Given the description of an element on the screen output the (x, y) to click on. 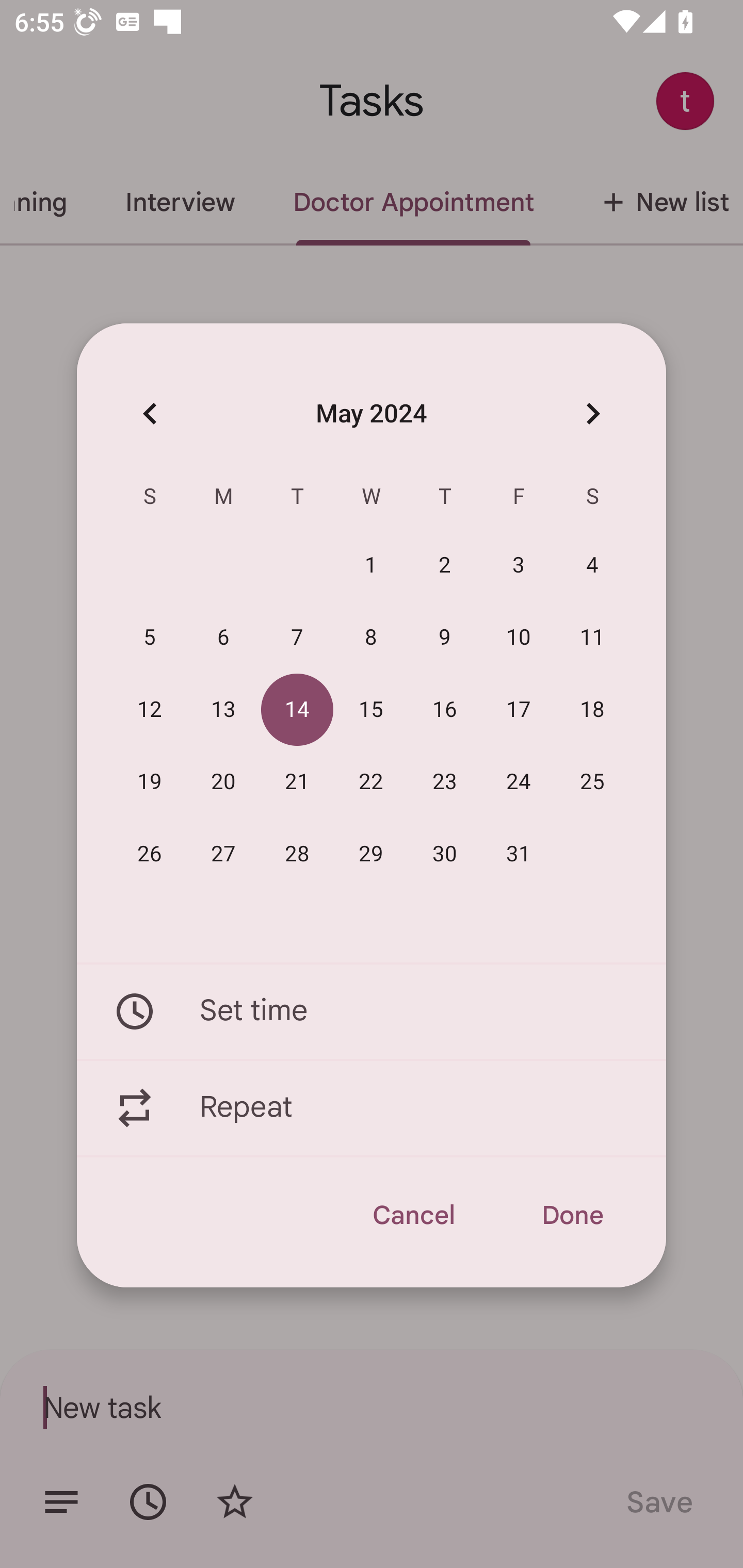
Previous month (149, 413)
Next month (592, 413)
1 01 May 2024 (370, 565)
2 02 May 2024 (444, 565)
3 03 May 2024 (518, 565)
4 04 May 2024 (592, 565)
5 05 May 2024 (149, 638)
6 06 May 2024 (223, 638)
7 07 May 2024 (297, 638)
8 08 May 2024 (370, 638)
9 09 May 2024 (444, 638)
10 10 May 2024 (518, 638)
11 11 May 2024 (592, 638)
12 12 May 2024 (149, 710)
13 13 May 2024 (223, 710)
14 14 May 2024 (297, 710)
15 15 May 2024 (370, 710)
16 16 May 2024 (444, 710)
17 17 May 2024 (518, 710)
18 18 May 2024 (592, 710)
19 19 May 2024 (149, 782)
20 20 May 2024 (223, 782)
21 21 May 2024 (297, 782)
22 22 May 2024 (370, 782)
23 23 May 2024 (444, 782)
24 24 May 2024 (518, 782)
25 25 May 2024 (592, 782)
26 26 May 2024 (149, 854)
27 27 May 2024 (223, 854)
28 28 May 2024 (297, 854)
29 29 May 2024 (370, 854)
30 30 May 2024 (444, 854)
31 31 May 2024 (518, 854)
Set time (371, 1011)
Repeat (371, 1108)
Cancel (412, 1215)
Done (571, 1215)
